Given the description of an element on the screen output the (x, y) to click on. 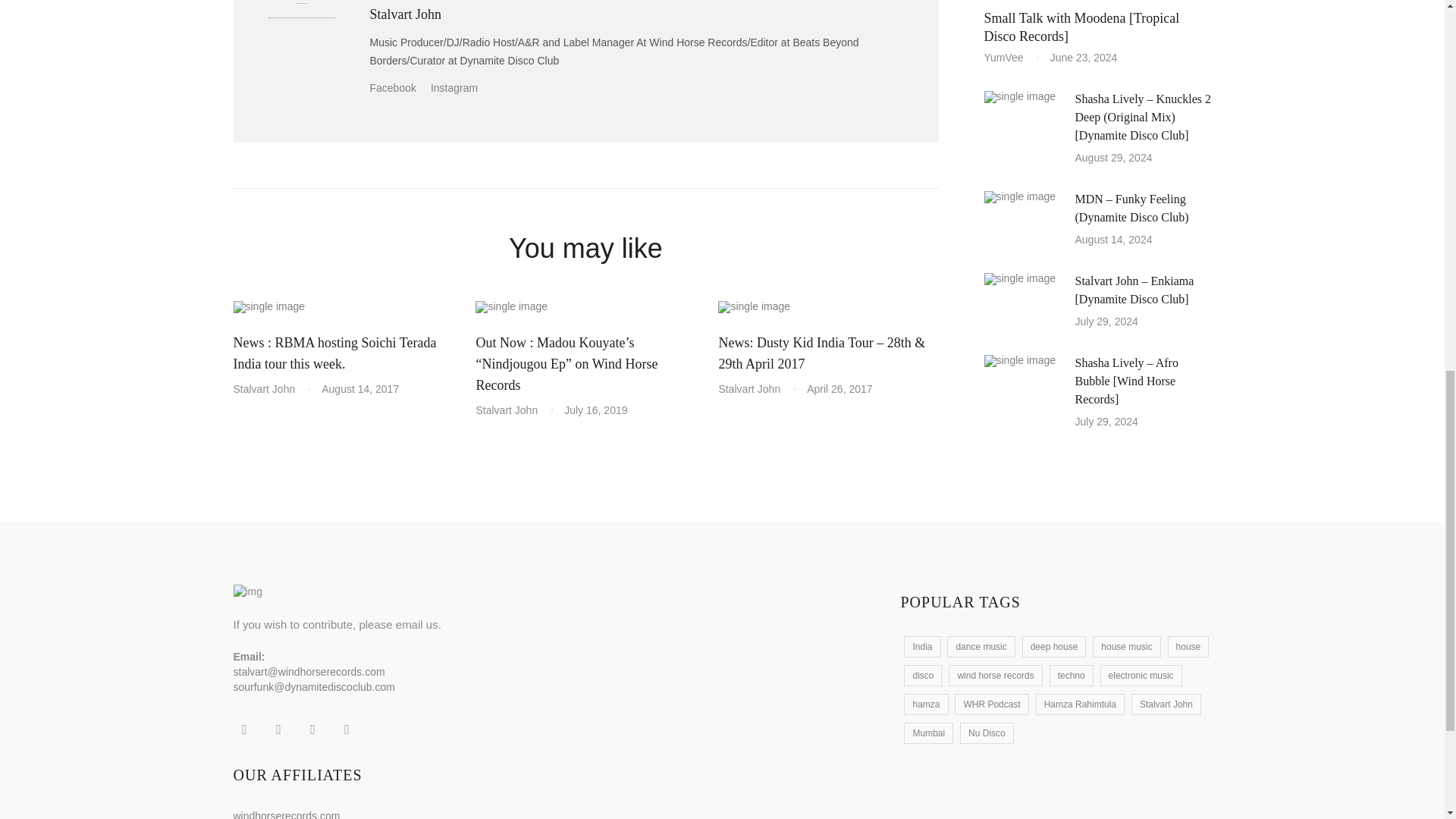
Stalvart John (269, 388)
Facebook (399, 87)
ion-social-facebook (244, 729)
Instagram (459, 87)
ion-social-twitter (277, 729)
August 14, 2017 (359, 388)
Stalvart John (405, 14)
News : RBMA hosting Soichi Terada India tour this week. (334, 352)
Posts by Stalvart John (405, 14)
